Given the description of an element on the screen output the (x, y) to click on. 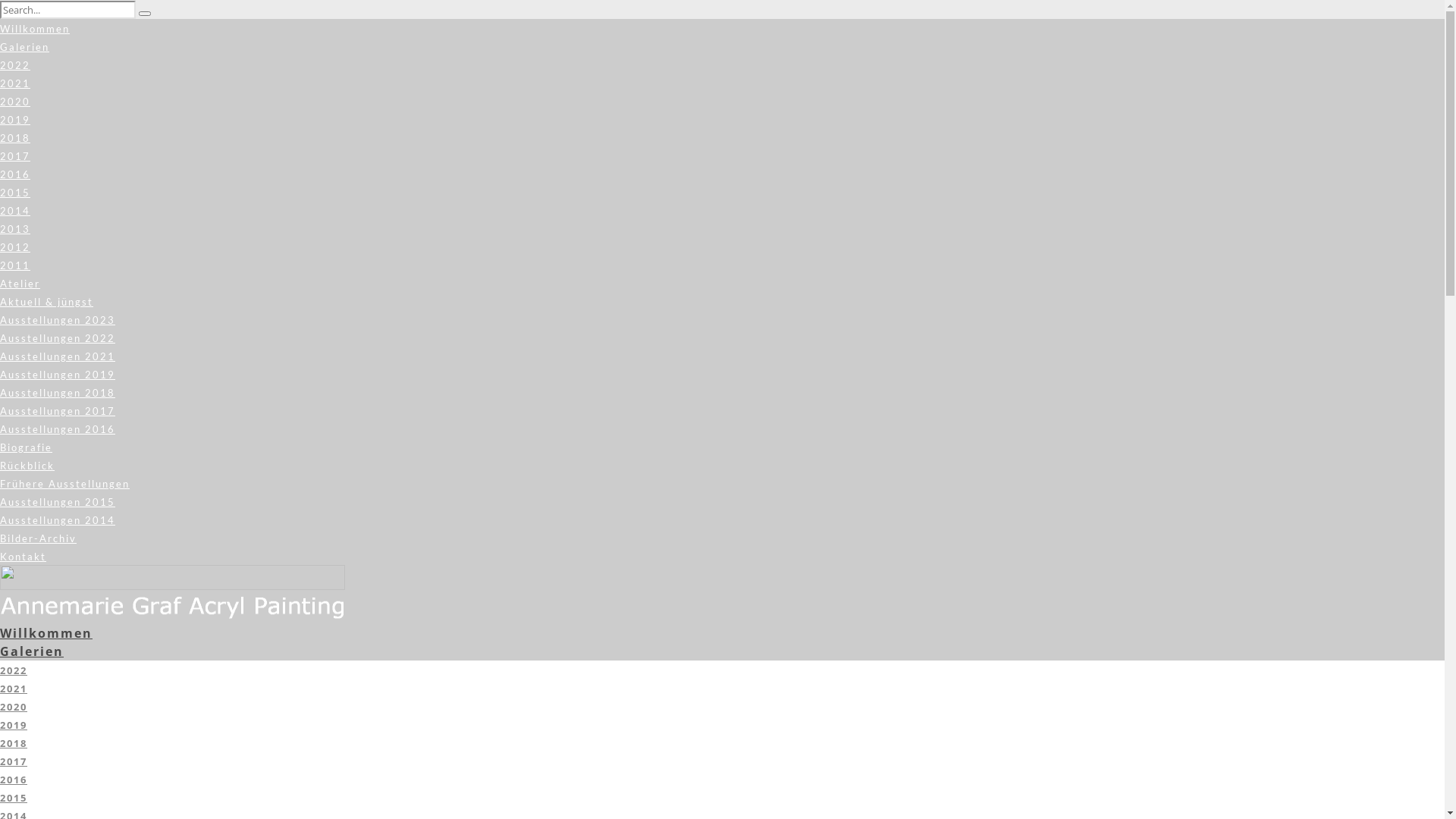
Willkommen Element type: text (34, 28)
Galerien Element type: text (31, 651)
Ausstellungen 2023 Element type: text (57, 319)
2020 Element type: text (13, 706)
Kontakt Element type: text (23, 556)
2020 Element type: text (15, 101)
2022 Element type: text (15, 65)
Ausstellungen 2014 Element type: text (57, 520)
2016 Element type: text (15, 174)
2016 Element type: text (13, 779)
Biografie Element type: text (26, 447)
2014 Element type: text (15, 210)
2019 Element type: text (13, 724)
Ausstellungen 2015 Element type: text (57, 501)
2015 Element type: text (13, 797)
Ausstellungen 2018 Element type: text (57, 392)
2011 Element type: text (15, 265)
Ausstellungen 2022 Element type: text (57, 338)
2018 Element type: text (15, 137)
Ausstellungen 2021 Element type: text (57, 356)
2012 Element type: text (15, 247)
2017 Element type: text (15, 156)
Ausstellungen 2017 Element type: text (57, 410)
2015 Element type: text (15, 192)
2019 Element type: text (15, 119)
Atelier Element type: text (20, 283)
Ausstellungen 2019 Element type: text (57, 374)
2018 Element type: text (13, 742)
2021 Element type: text (13, 688)
2022 Element type: text (13, 670)
Ausstellungen 2016 Element type: text (57, 429)
Galerien Element type: text (24, 46)
Willkommen Element type: text (46, 632)
Bilder-Archiv Element type: text (38, 538)
2021 Element type: text (15, 83)
2013 Element type: text (15, 228)
2017 Element type: text (13, 761)
